Given the description of an element on the screen output the (x, y) to click on. 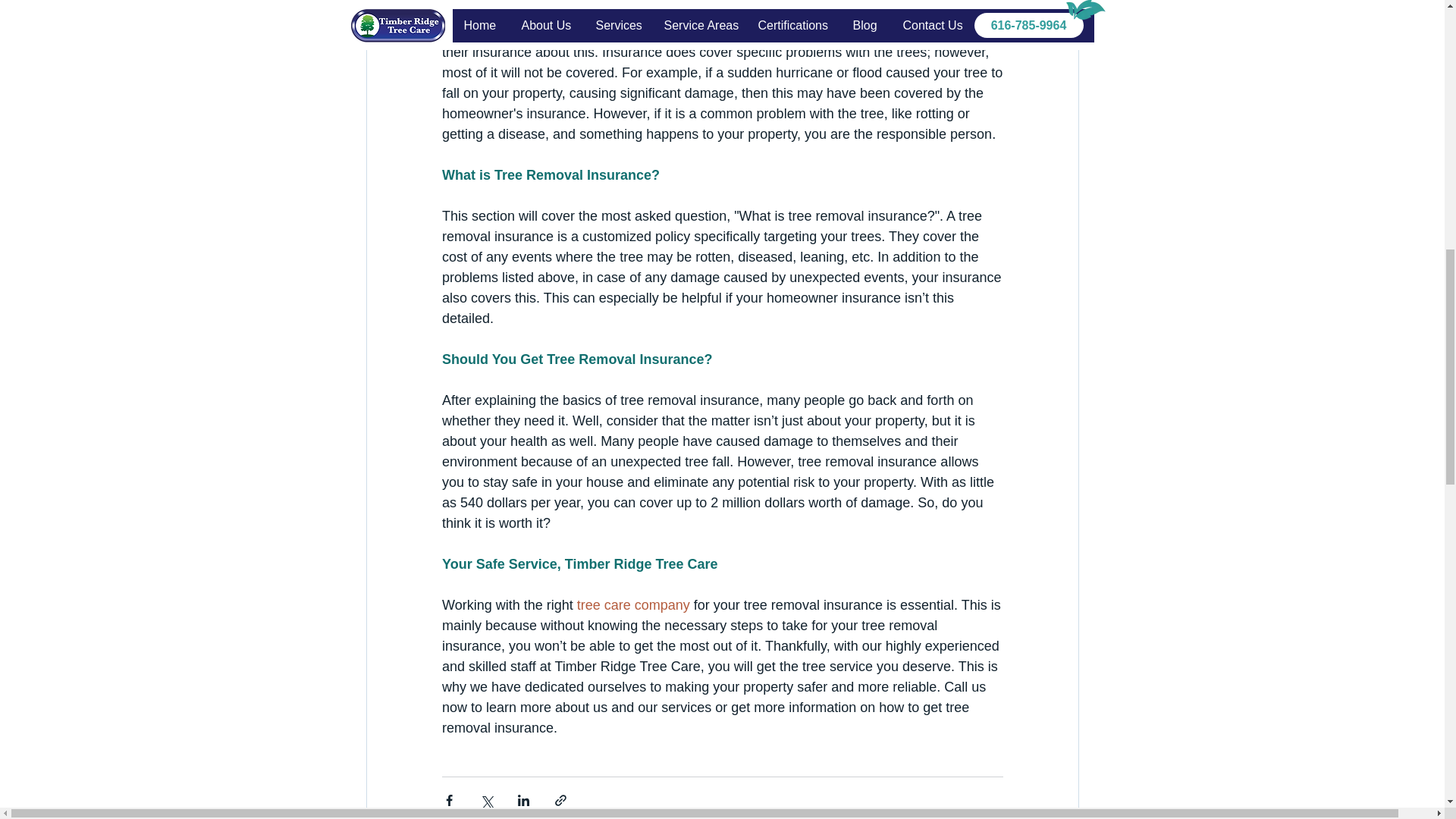
tree care company (632, 604)
